Given the description of an element on the screen output the (x, y) to click on. 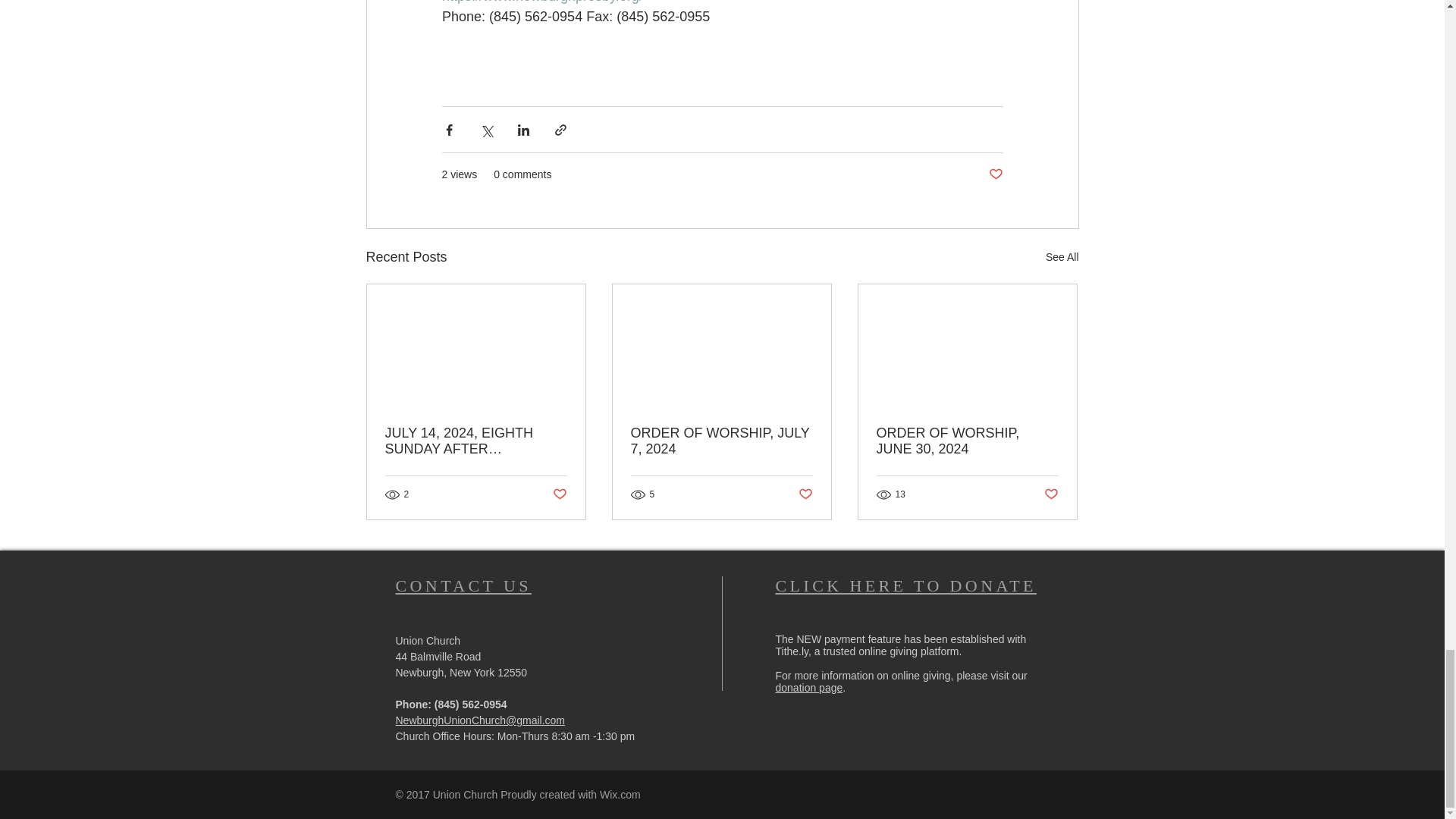
ORDER OF WORSHIP, JUNE 30, 2024 (967, 441)
See All (1061, 257)
JULY 14, 2024, EIGHTH SUNDAY AFTER PENTECOST (476, 441)
Post not marked as liked (804, 494)
Wix.com (619, 794)
Post not marked as liked (1050, 494)
CONTACT US (463, 585)
donation page (808, 687)
CLICK HERE TO DONATE (904, 585)
ORDER OF WORSHIP, JULY 7, 2024 (721, 441)
Post not marked as liked (558, 494)
Post not marked as liked (995, 174)
